Given the description of an element on the screen output the (x, y) to click on. 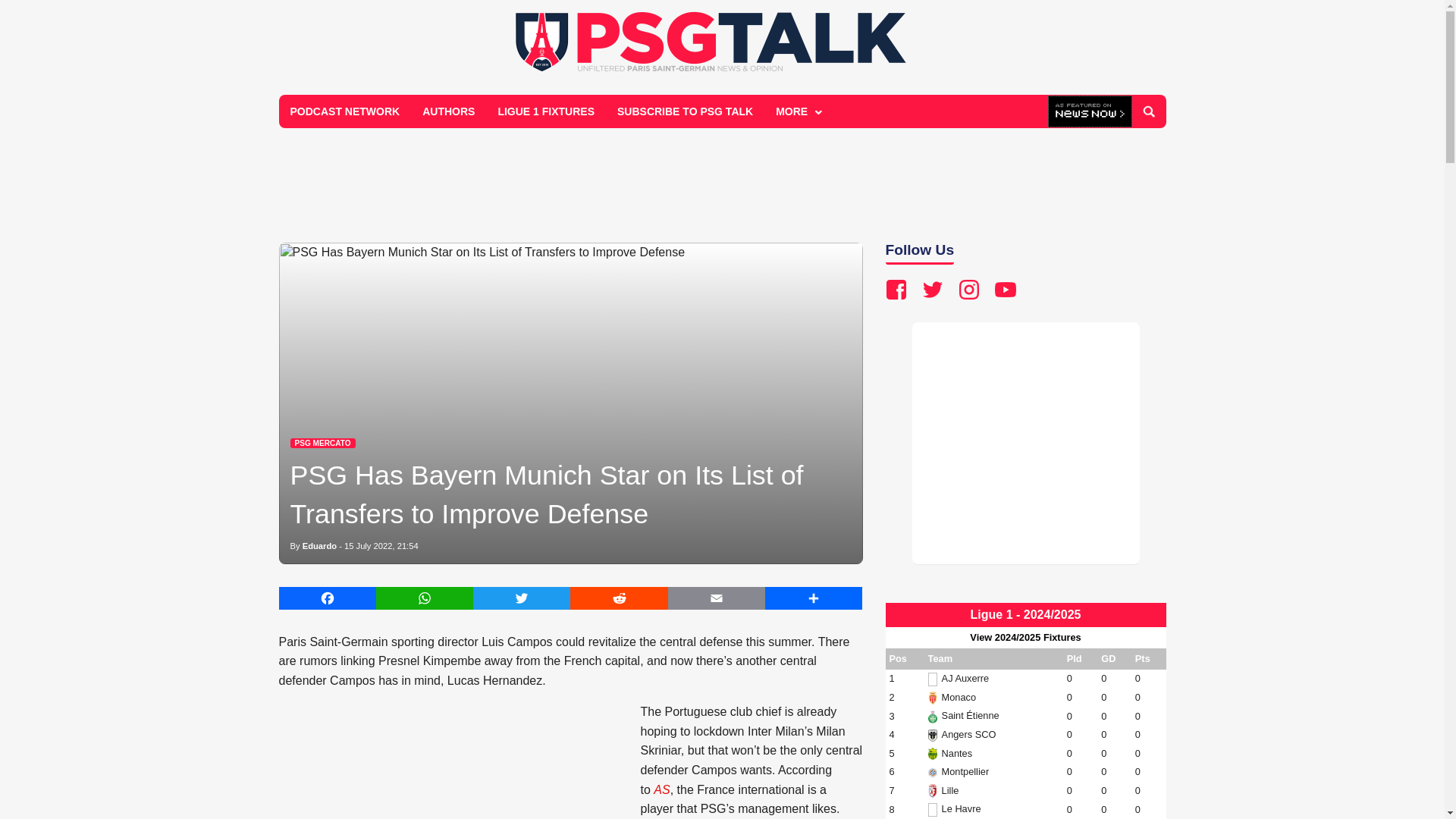
Latest PSG Mercato News (322, 442)
WhatsApp (424, 598)
Facebook (327, 598)
Twitter (521, 598)
Search (1147, 111)
Eduardo (319, 545)
PSG MERCATO (322, 442)
AS (661, 789)
SUBSCRIBE TO PSG TALK (684, 111)
Facebook (327, 598)
Email (716, 598)
Email (716, 598)
PODCAST NETWORK (345, 111)
Twitter (521, 598)
